Given the description of an element on the screen output the (x, y) to click on. 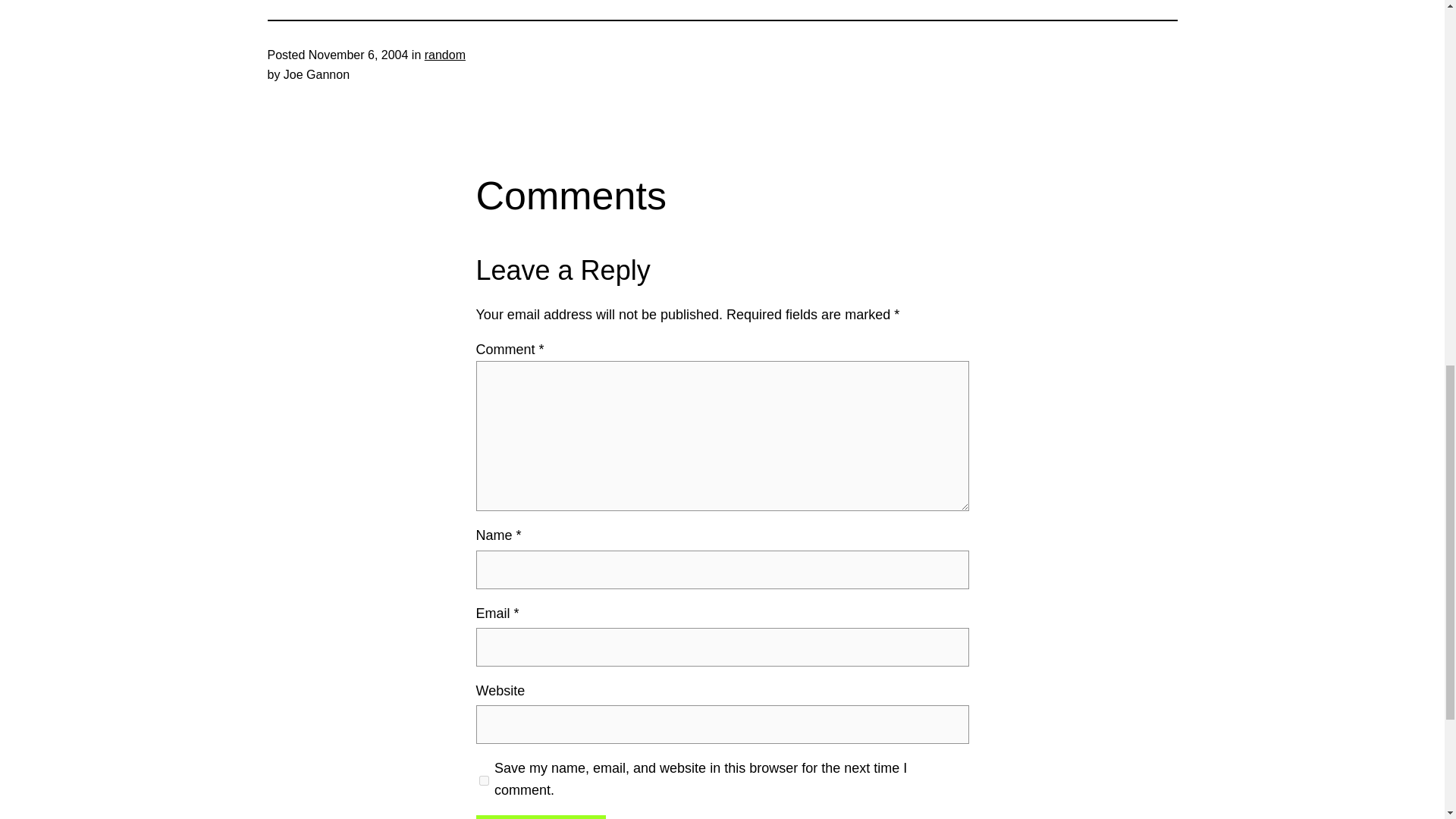
Post Comment (540, 816)
Post Comment (540, 816)
random (445, 54)
